Given the description of an element on the screen output the (x, y) to click on. 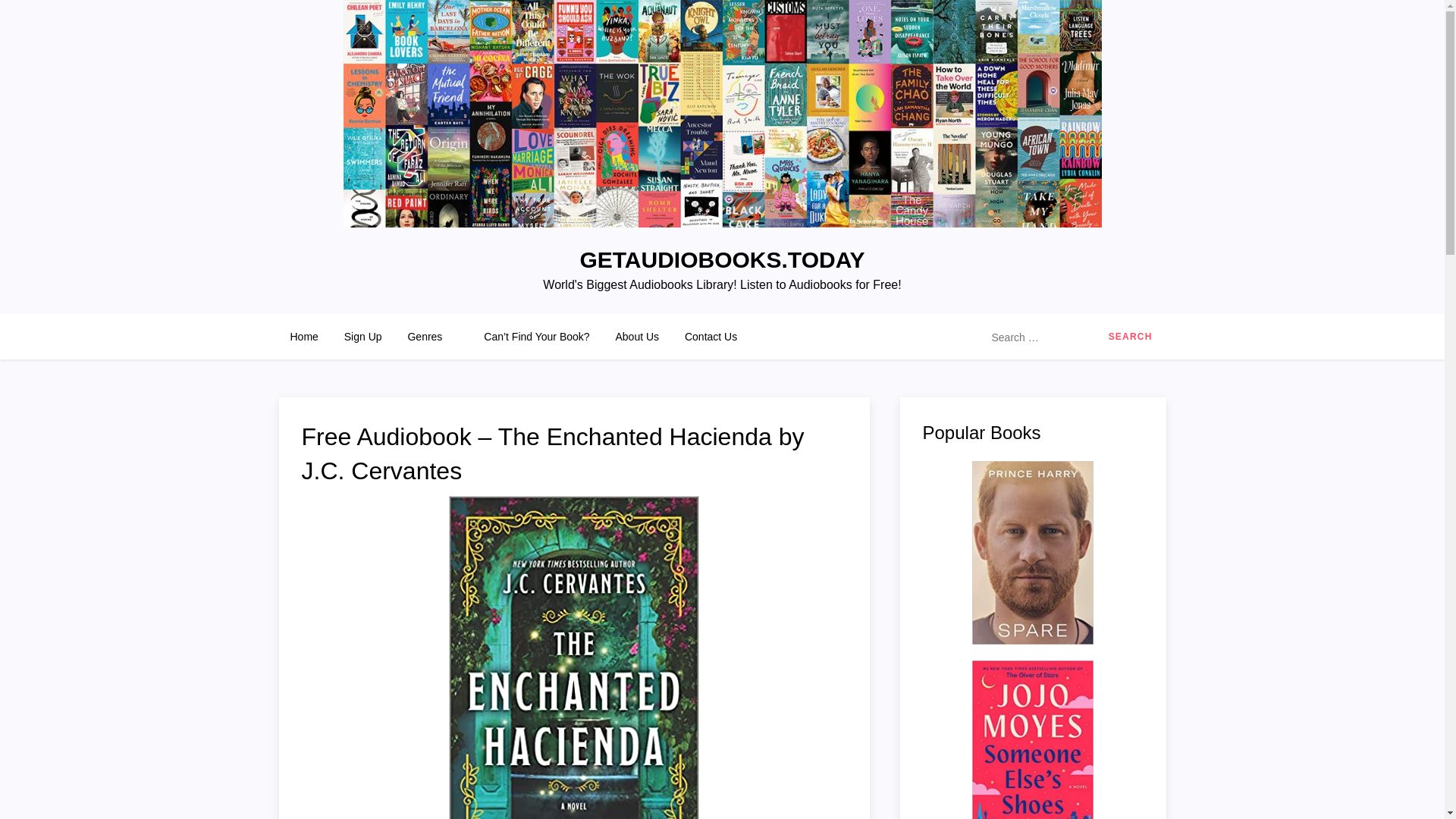
Home (304, 336)
Search (1130, 337)
Search (1130, 337)
Sign Up (363, 336)
Contact Us (710, 336)
GETAUDIOBOOKS.TODAY (721, 259)
Search (1130, 337)
Genres (432, 336)
About Us (636, 336)
